Given the description of an element on the screen output the (x, y) to click on. 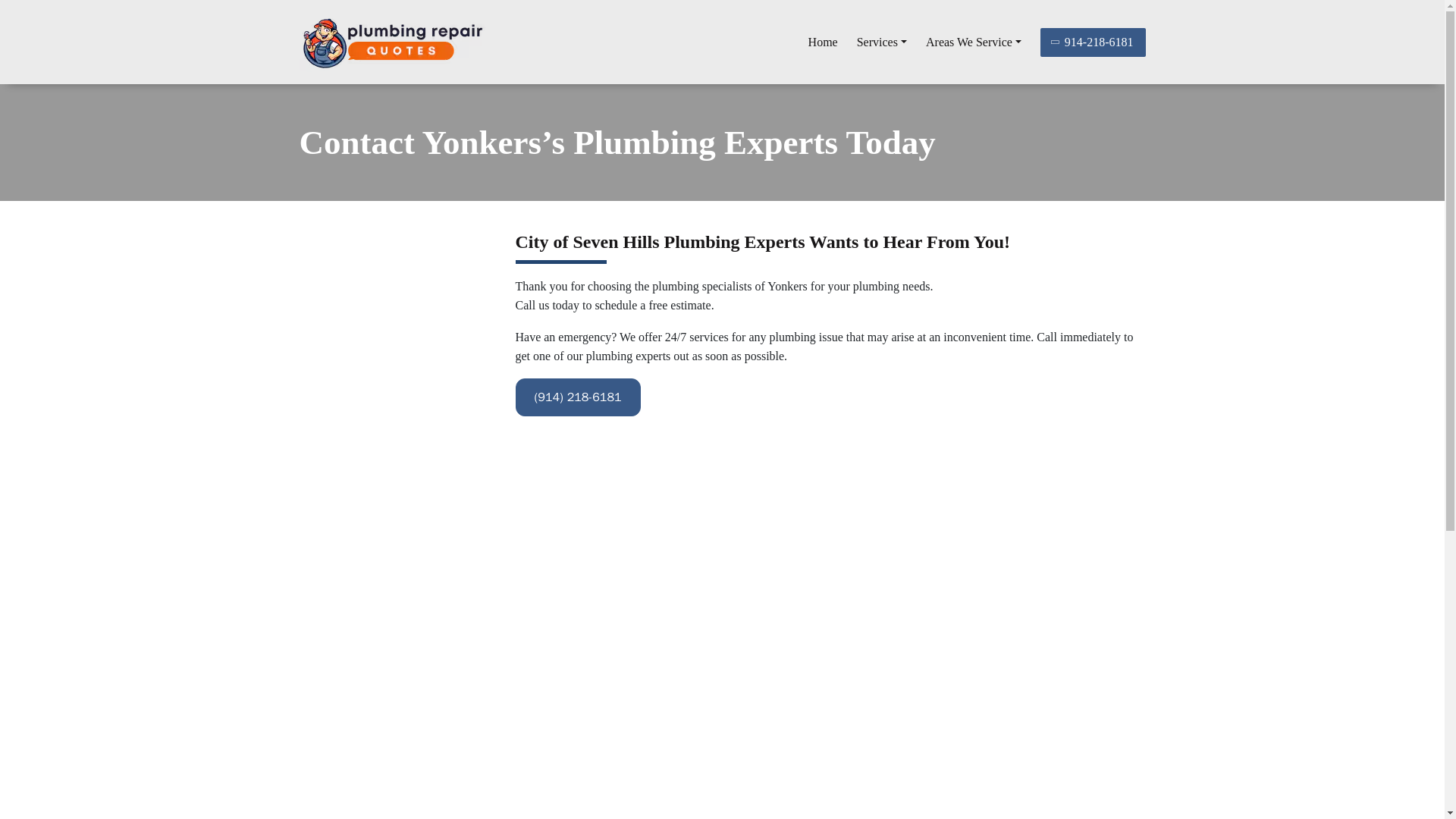
Home (823, 42)
Home (823, 42)
Areas We Service (974, 42)
Areas We Service (974, 42)
Services (882, 42)
914-218-6181 (1093, 41)
Services (882, 42)
